Given the description of an element on the screen output the (x, y) to click on. 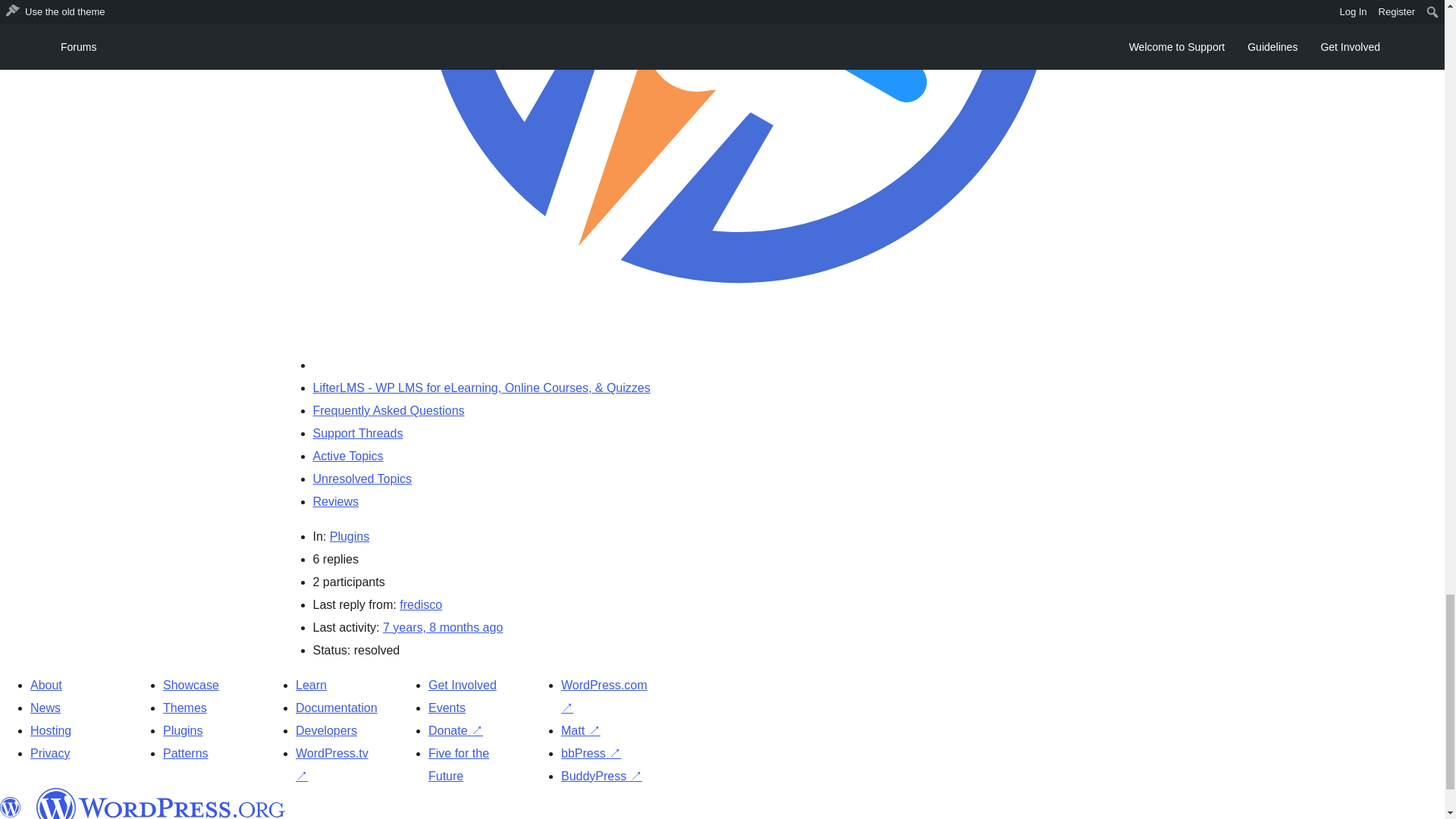
WordPress.org (10, 807)
WordPress.org (160, 803)
